Given the description of an element on the screen output the (x, y) to click on. 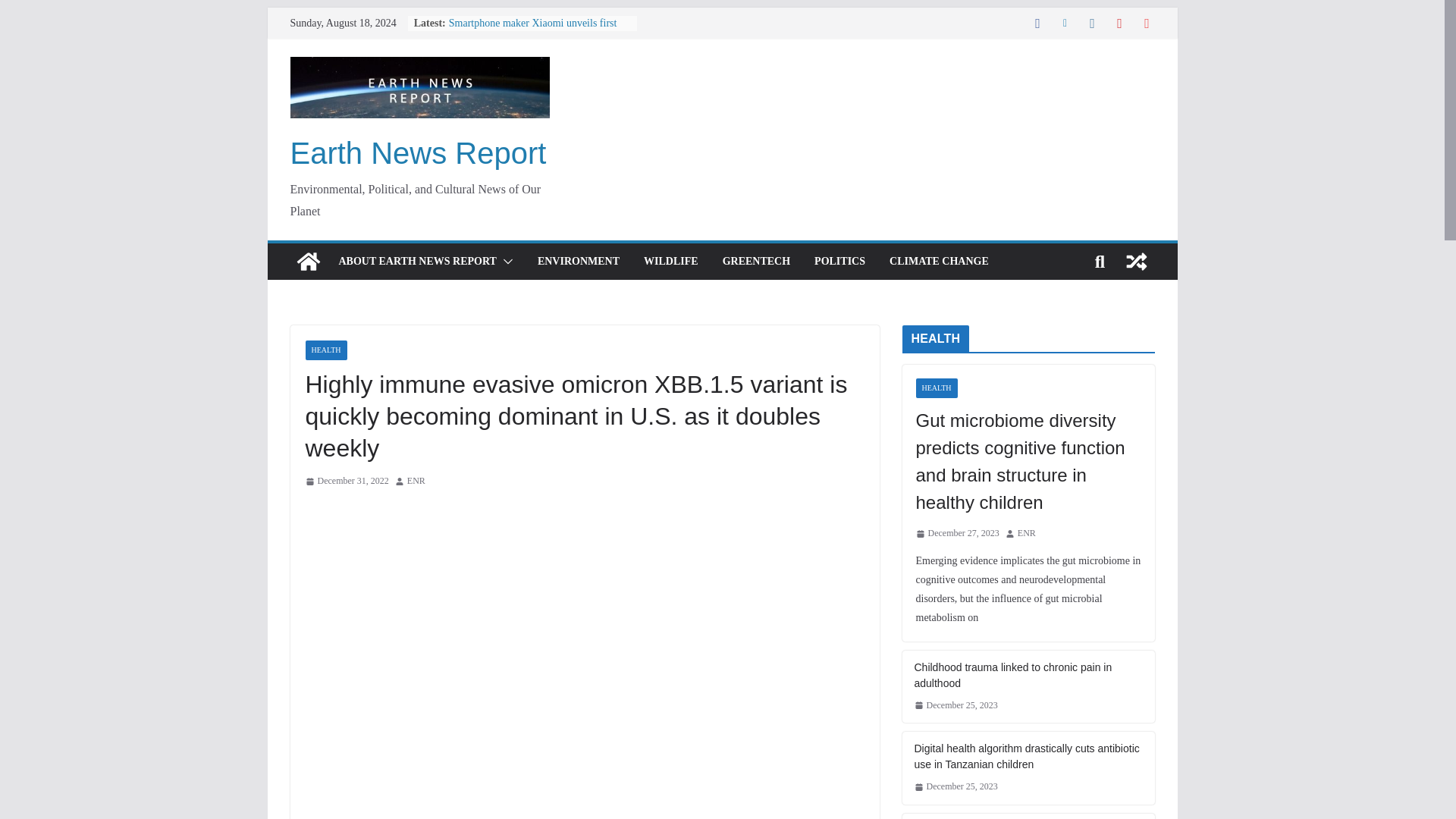
ENVIRONMENT (578, 260)
POLITICS (838, 260)
CLIMATE CHANGE (938, 260)
ABOUT EARTH NEWS REPORT (416, 260)
Earth News Report (417, 152)
ENR (416, 481)
Earth News Report (417, 152)
WILDLIFE (670, 260)
HEALTH (325, 350)
